Given the description of an element on the screen output the (x, y) to click on. 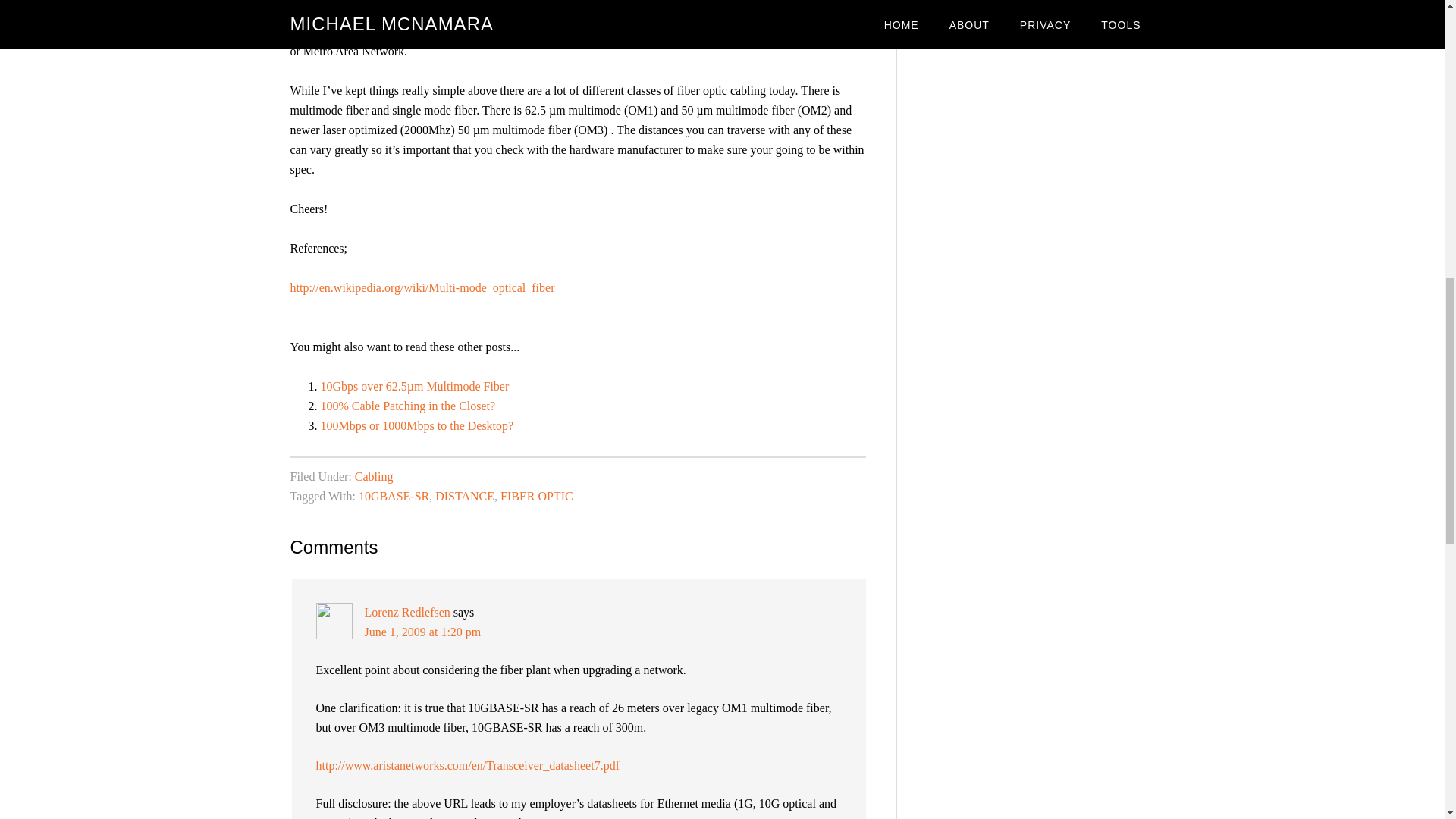
Cabling (374, 476)
10GBASE-SR (393, 495)
100Mbps or 1000Mbps to the Desktop? (416, 425)
Lorenz Redlefsen (406, 612)
100Mbps or 1000Mbps to the Desktop? (416, 425)
DISTANCE (465, 495)
June 1, 2009 at 1:20 pm (422, 631)
FIBER OPTIC (536, 495)
